Given the description of an element on the screen output the (x, y) to click on. 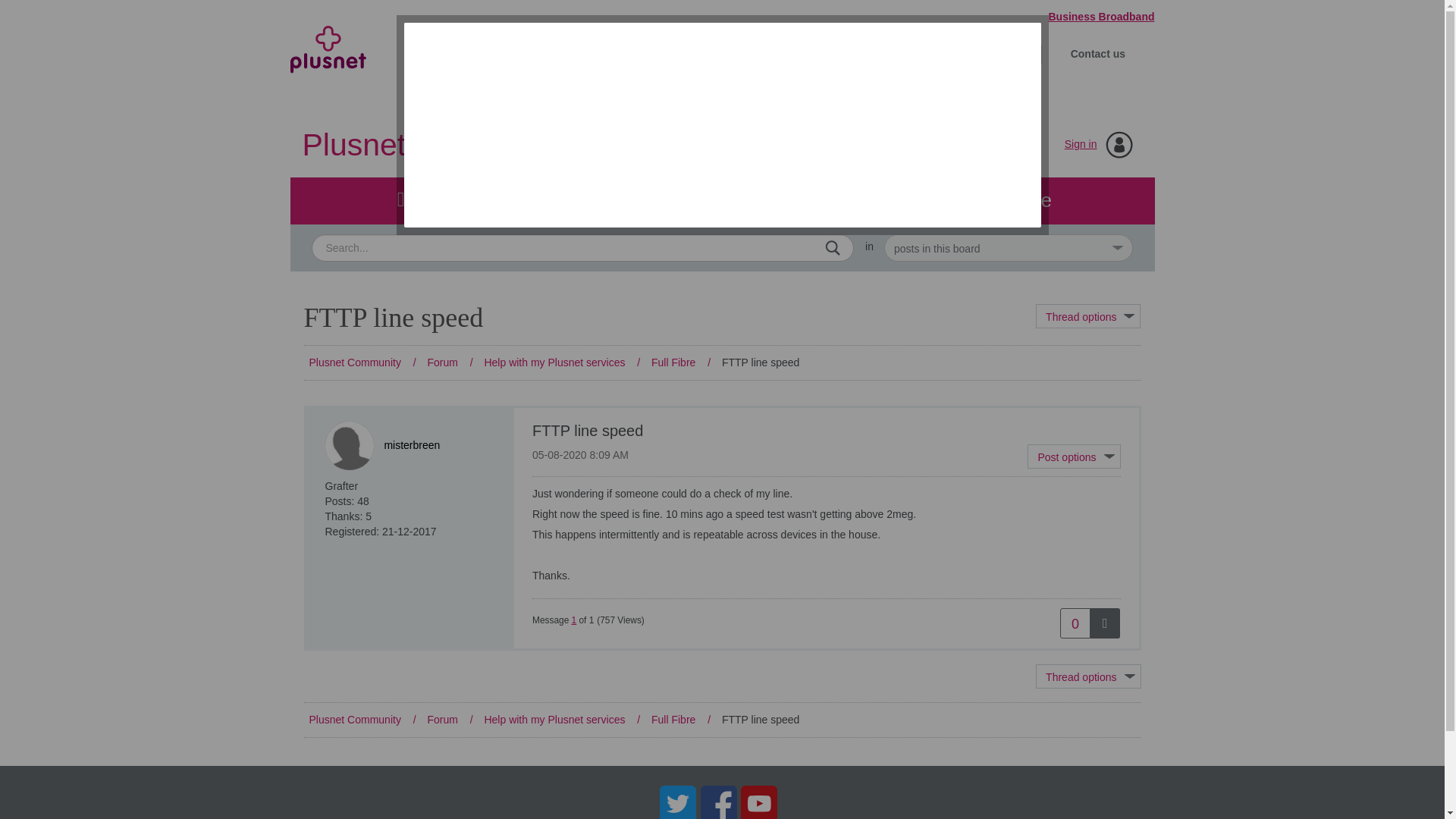
misterbreen (348, 445)
Business Broadband (1093, 16)
Topic Options (1088, 315)
Set search granularity (1007, 247)
Search (582, 247)
Blog (721, 200)
Mobile (587, 53)
Show option menu (1073, 456)
Show option menu (1088, 676)
Forum (432, 200)
Show option menu (1088, 315)
My account (853, 53)
Search (832, 247)
Search (832, 247)
Sign in (1080, 143)
